Given the description of an element on the screen output the (x, y) to click on. 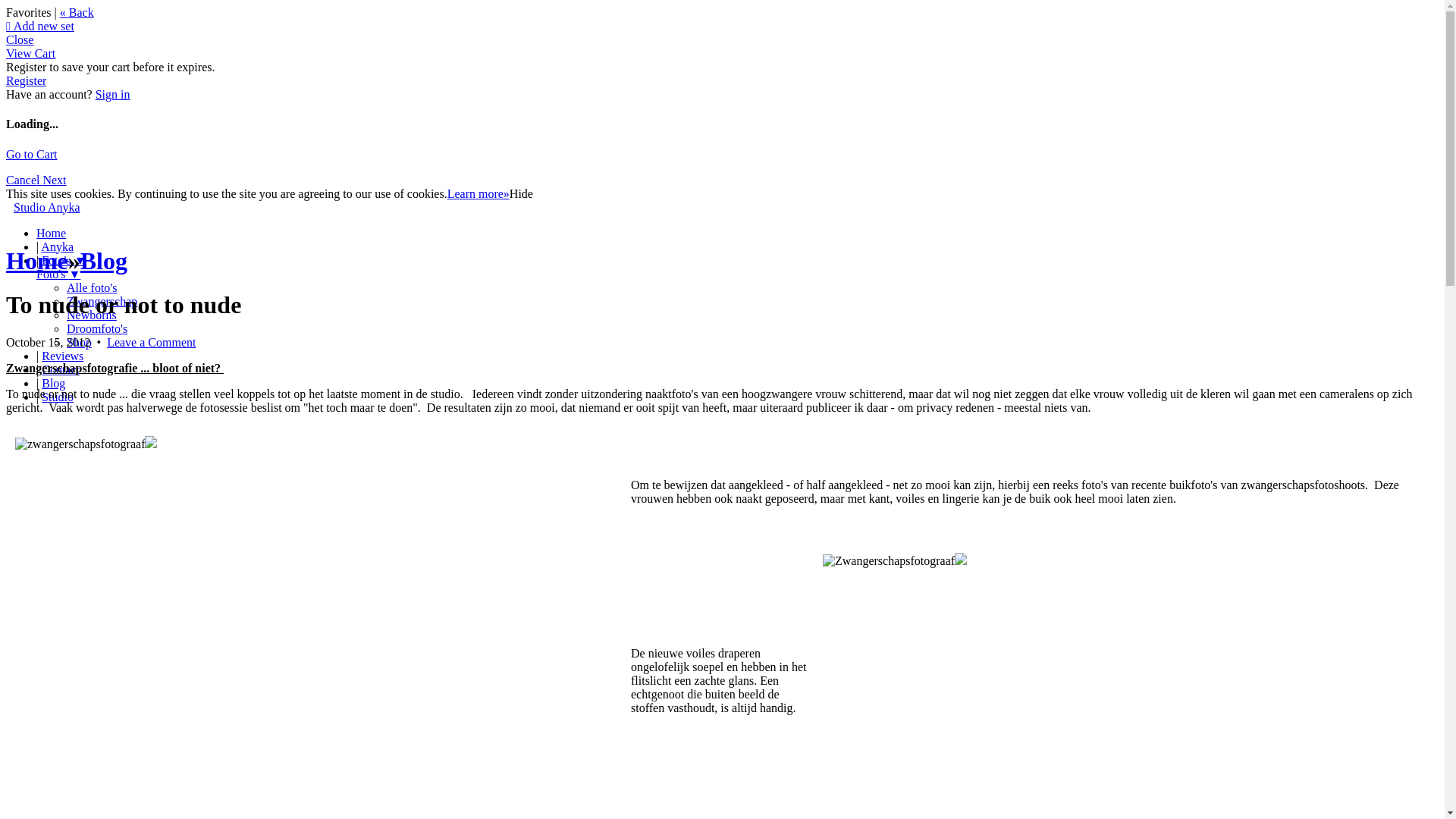
Zwangerschap Element type: text (101, 300)
Reviews Element type: text (62, 355)
Newborns Element type: text (91, 314)
Droomfoto's Element type: text (96, 328)
Shop Element type: text (78, 341)
Close Element type: text (19, 39)
Hide Element type: text (521, 193)
Home Element type: text (50, 232)
Go to Cart Element type: text (31, 153)
Cancel Element type: text (24, 179)
Blog Element type: text (53, 382)
Studio Anyka Element type: text (46, 206)
Next Element type: text (53, 179)
Anyka Element type: text (56, 246)
Register Element type: text (26, 80)
Leave a Comment Element type: text (150, 341)
Sign in Element type: text (112, 93)
Contact Element type: text (60, 369)
Studio Element type: text (57, 396)
Alle foto's Element type: text (91, 287)
Home Element type: text (37, 260)
Blog Element type: text (103, 260)
View Cart Element type: text (30, 53)
